Given the description of an element on the screen output the (x, y) to click on. 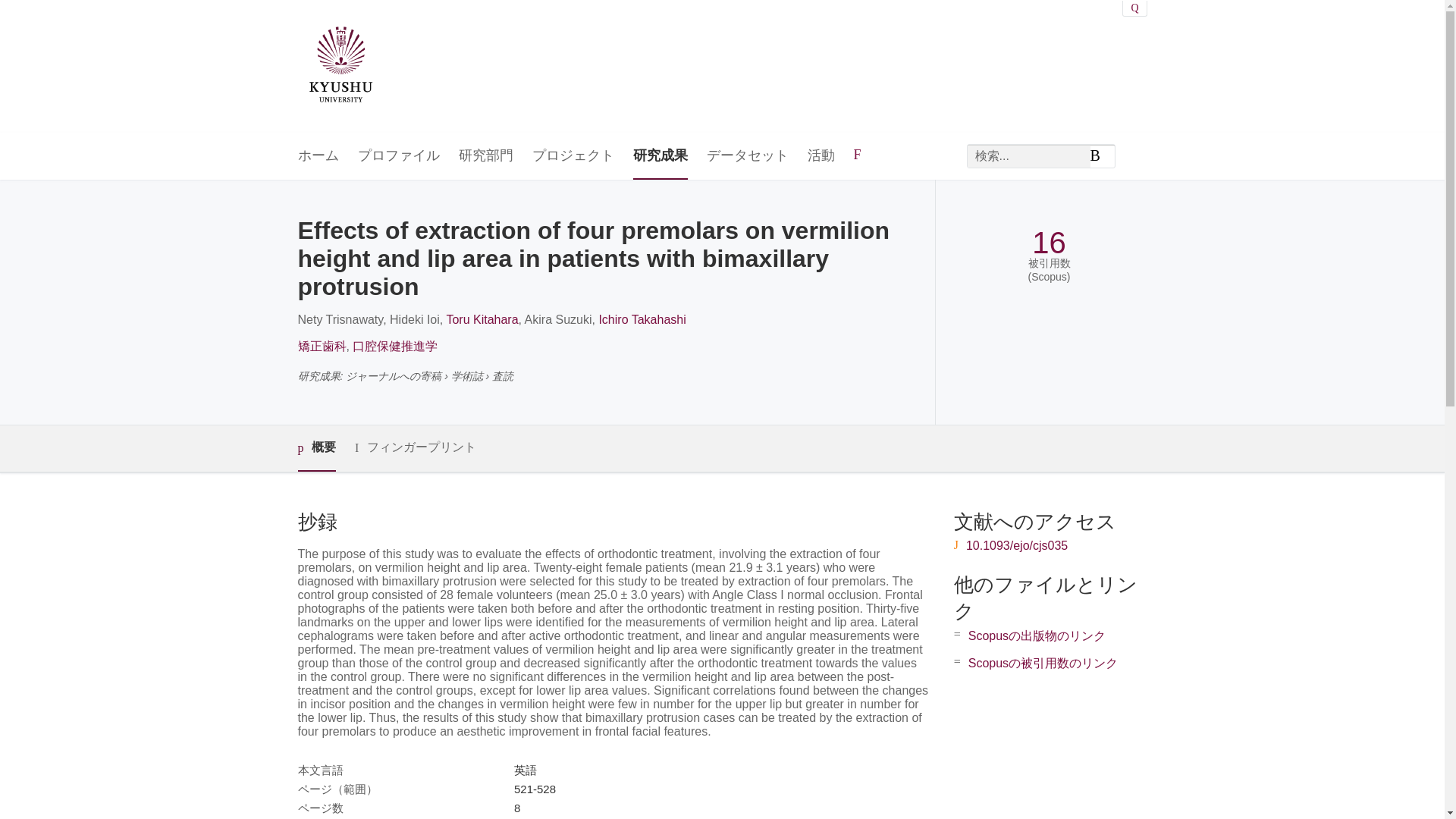
Toru Kitahara (481, 318)
16 (1048, 243)
Ichiro Takahashi (641, 318)
